Given the description of an element on the screen output the (x, y) to click on. 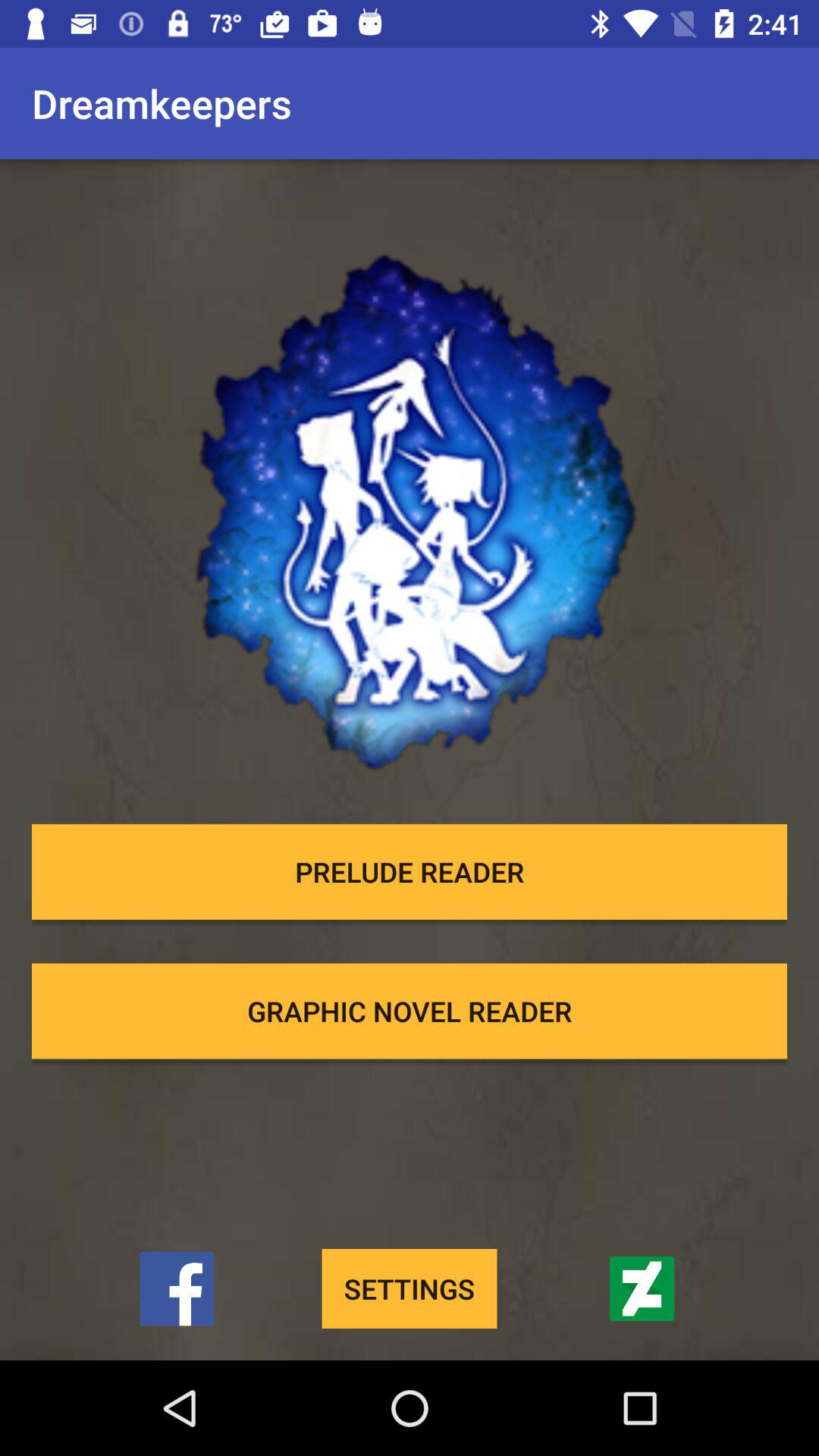
jump to graphic novel reader item (409, 1011)
